Given the description of an element on the screen output the (x, y) to click on. 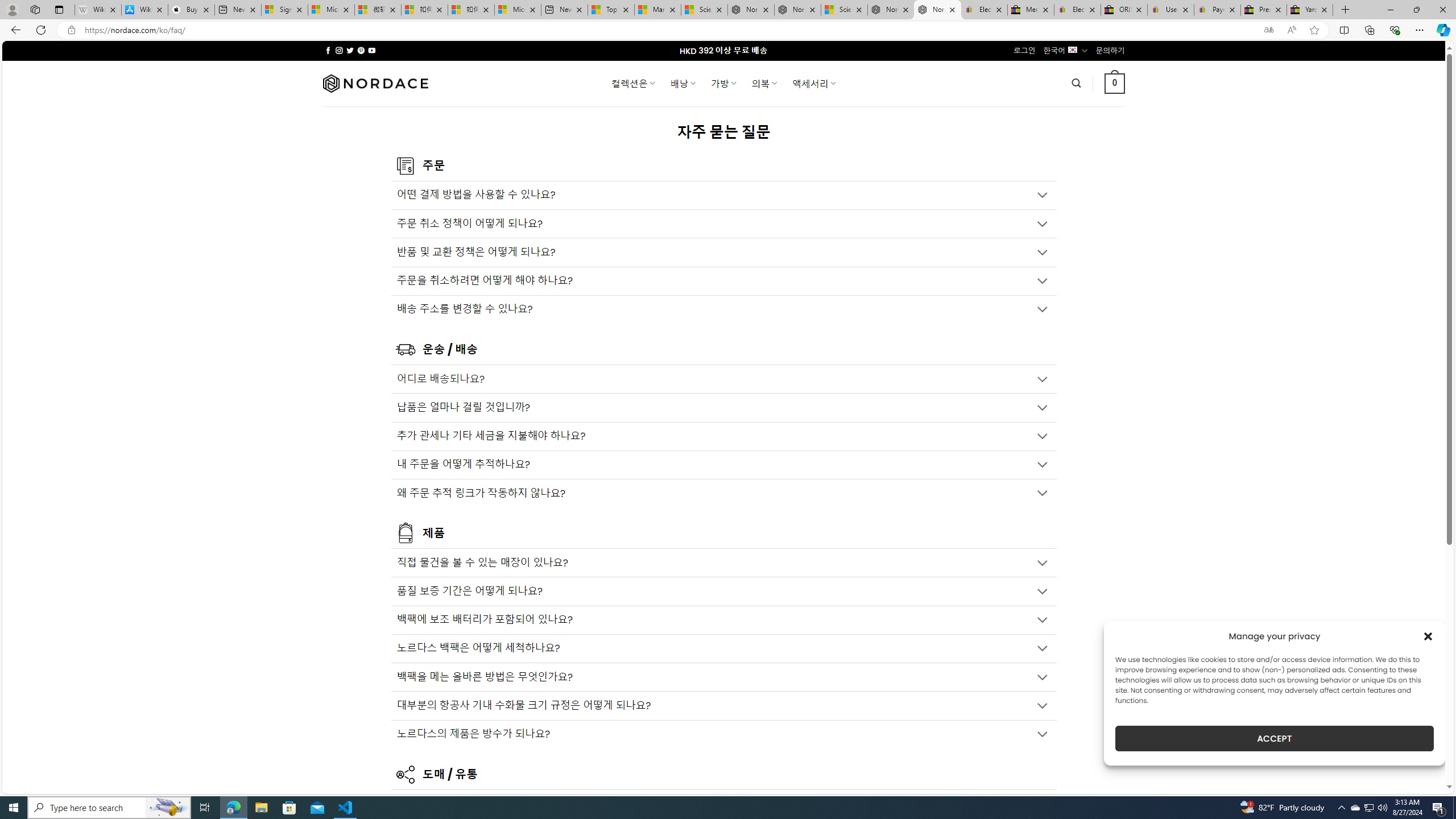
Class: cmplz-close (1428, 636)
ACCEPT (1274, 738)
